Given the description of an element on the screen output the (x, y) to click on. 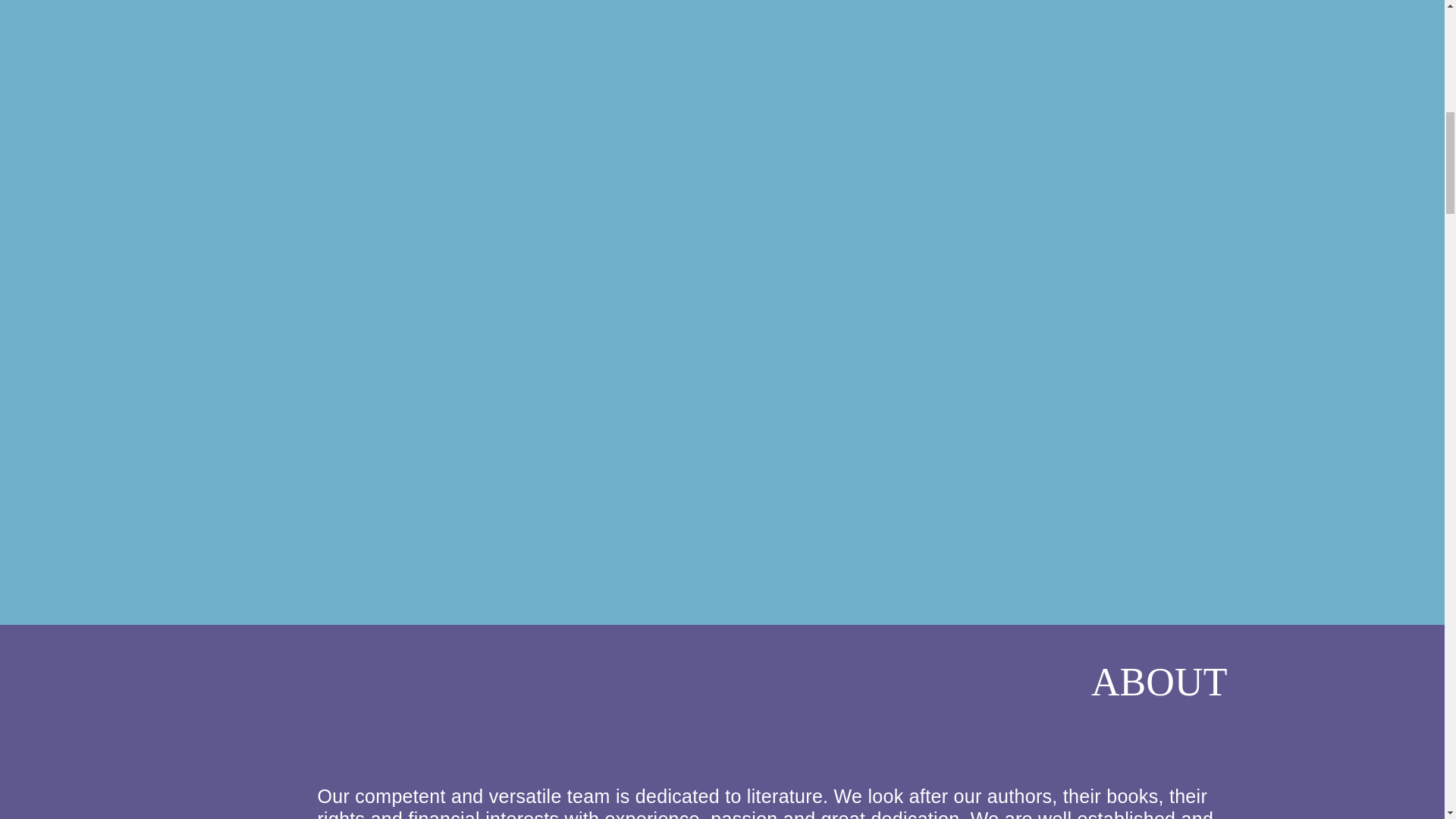
team (588, 795)
